Given the description of an element on the screen output the (x, y) to click on. 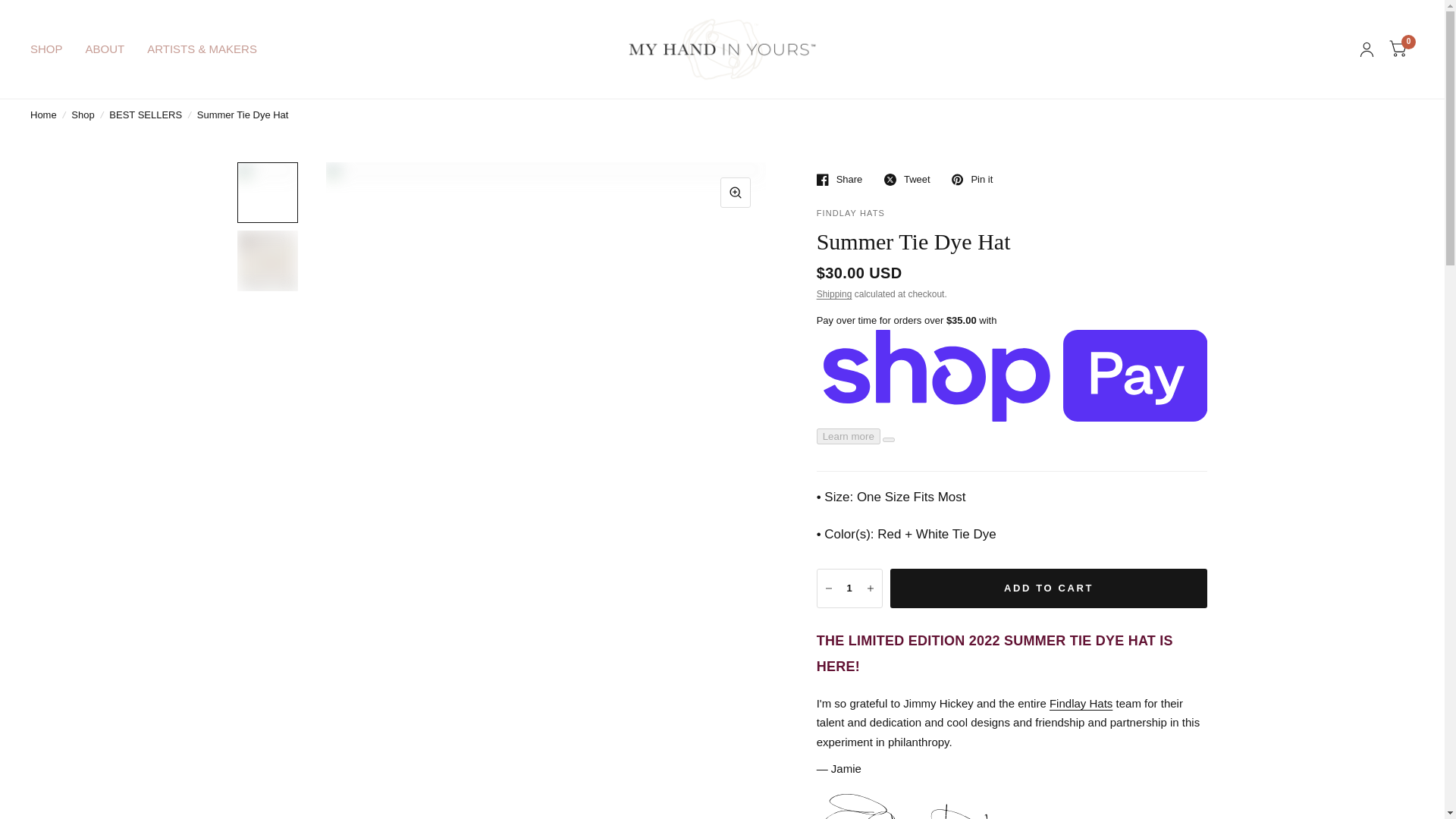
Share (839, 179)
Pin it (972, 179)
BEST SELLERS (145, 115)
BEST SELLERS (145, 115)
ABOUT (105, 48)
Home (43, 115)
ABOUT (105, 48)
ADD TO CART (1048, 588)
SHOP (46, 48)
Shop (82, 115)
